Given the description of an element on the screen output the (x, y) to click on. 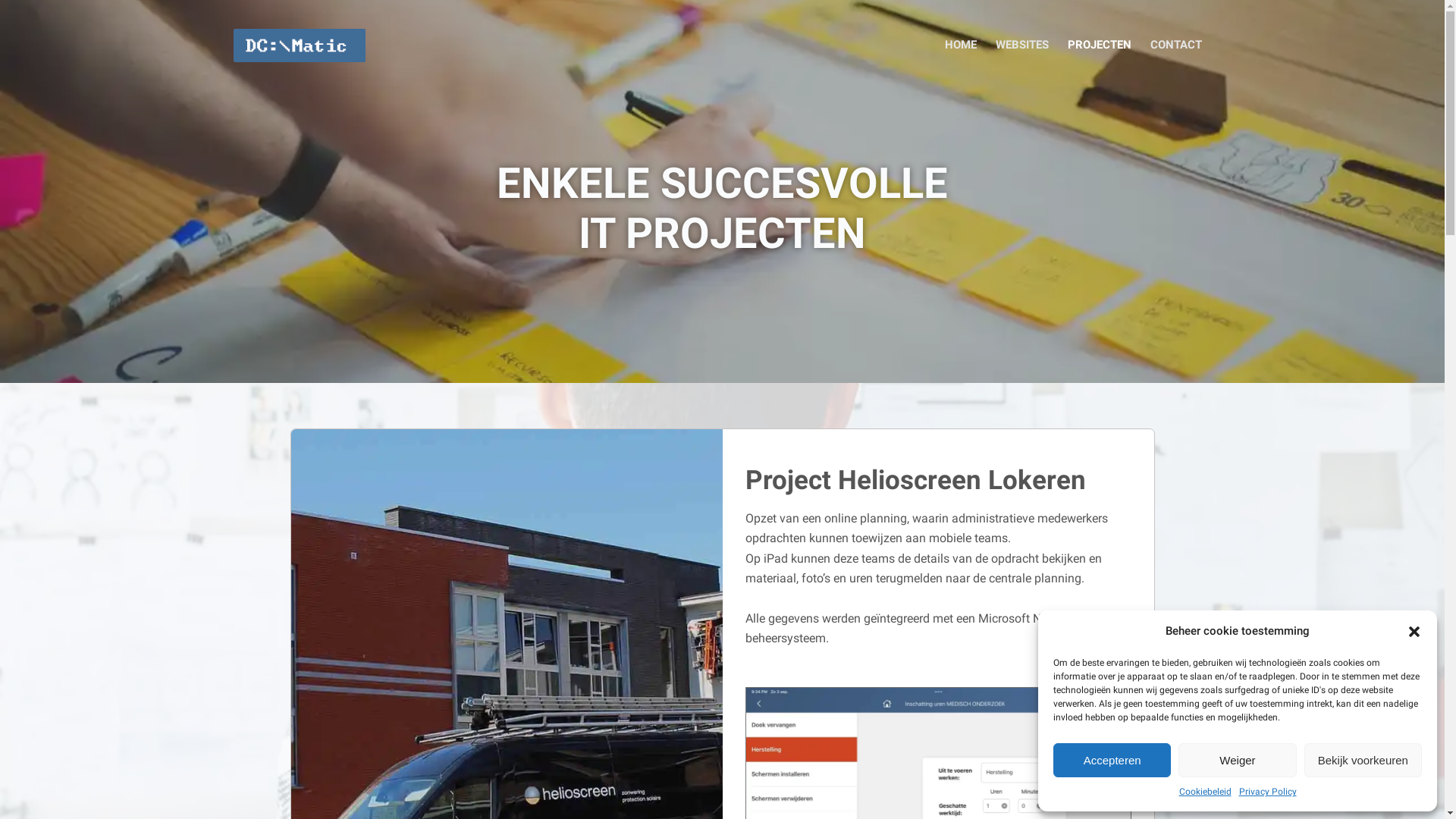
Accepteren Element type: text (1111, 760)
Weiger Element type: text (1236, 760)
CONTACT Element type: text (1175, 45)
Privacy Policy Element type: text (1267, 792)
HOME Element type: text (960, 45)
WEBSITES Element type: text (1021, 45)
PROJECTEN Element type: text (1099, 45)
Bekijk voorkeuren Element type: text (1362, 760)
Skip to content Element type: text (15, 7)
Cookiebeleid Element type: text (1204, 792)
